Given the description of an element on the screen output the (x, y) to click on. 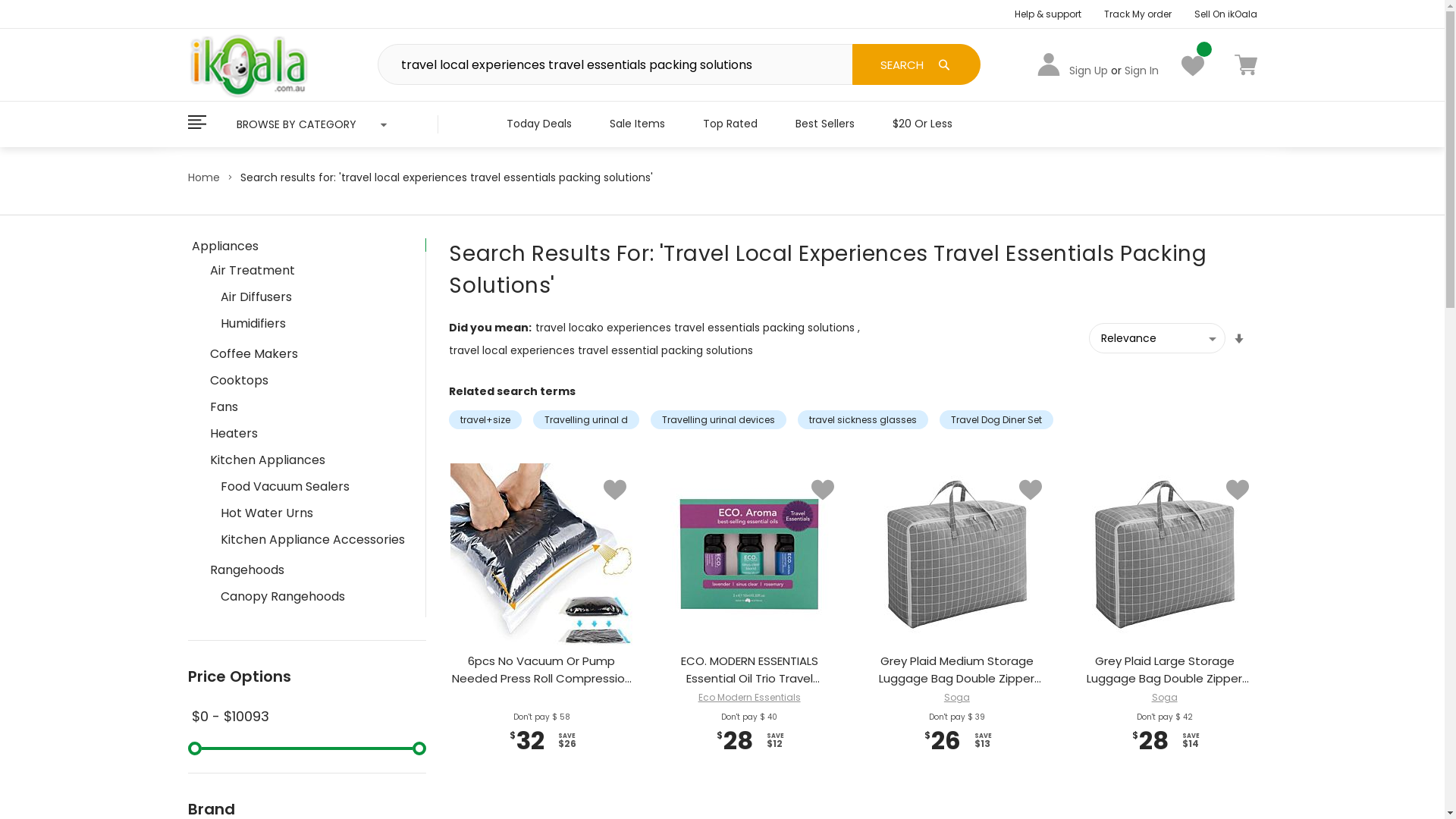
Sale Items Element type: text (636, 123)
Baby Activity Equipment Element type: text (309, 756)
Baby Bedding & Sleep Element type: text (309, 782)
Rangehoods Element type: text (309, 569)
Vacuum Cleaner Parts & Accessories Element type: text (313, 687)
Kitchen Appliances Element type: text (309, 459)
Skip to Content Element type: text (186, 6)
Today Deals Element type: text (537, 123)
Handheld Vacuum Cleaners Element type: text (313, 652)
Home Element type: text (203, 177)
Help & support Element type: text (1047, 13)
My Account Element type: text (1048, 64)
Air Diffusers Element type: text (313, 296)
Sign In Element type: text (1140, 70)
travel sickness glasses Element type: text (862, 419)
Top Rated Element type: text (730, 123)
Ikoala Logo Element type: hover (249, 64)
Set Ascending Direction Element type: text (1238, 338)
Canopy Rangehoods Element type: text (313, 595)
Coffee Makers Element type: text (309, 353)
Add to Wish List Element type: text (822, 489)
Best Sellers Element type: text (824, 123)
Kitchen Appliance Accessories Element type: text (313, 538)
Travelling urinal d Element type: text (586, 419)
Sell On ikOala Element type: text (1224, 13)
Eco Modern Essentials Element type: text (749, 696)
BROWSE BY CATEGORY Element type: text (313, 124)
Cooktops Element type: text (309, 379)
$20 Or Less Element type: text (922, 123)
travel+size Element type: text (484, 419)
Travelling urinal devices Element type: text (718, 419)
Add to Wish List Element type: text (1030, 489)
Travel Dog Diner Set Element type: text (996, 419)
SEARCH Element type: text (916, 63)
Hot Water Urns Element type: text (313, 512)
My Cart Element type: text (1245, 64)
Humidifiers Element type: text (313, 322)
Track My order Element type: text (1137, 13)
Vacuum Cleaners Element type: text (309, 626)
Soga Element type: text (956, 696)
Heaters Element type: text (309, 432)
Add to Wish List Element type: text (614, 489)
Add to Wish List Element type: text (1237, 489)
Air Treatment Element type: text (309, 269)
travel local experiences travel essential packing solutions Element type: text (600, 349)
Food Vacuum Sealers Element type: text (313, 485)
Soga Element type: text (1164, 696)
Fans Element type: text (309, 406)
Sign Up Element type: text (1088, 70)
